Given the description of an element on the screen output the (x, y) to click on. 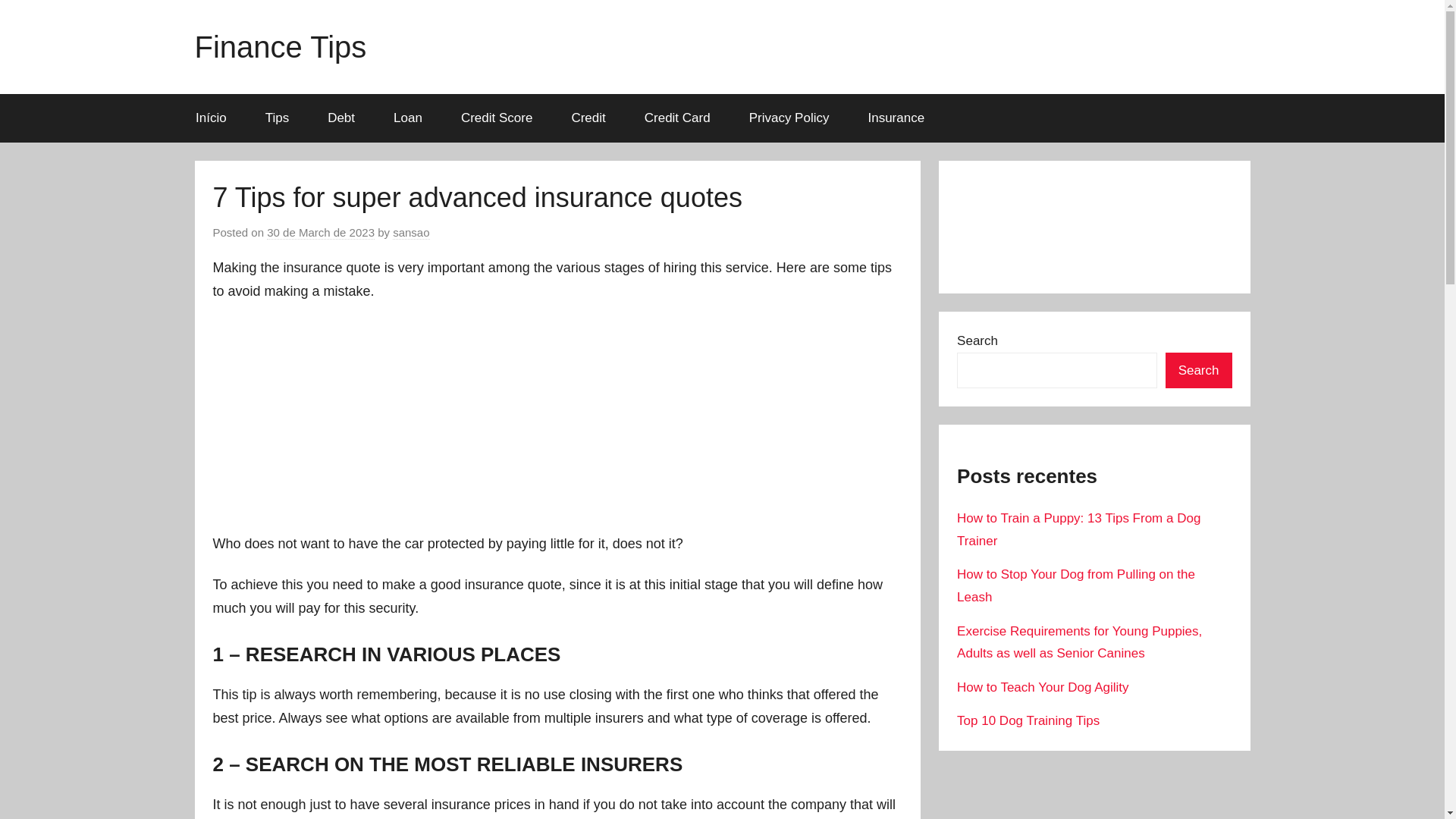
sansao (411, 232)
Credit Card (676, 118)
Credit (587, 118)
Top 10 Dog Training Tips (1027, 720)
View all posts by sansao (411, 232)
How to Teach Your Dog Agility (1042, 687)
How to Train a Puppy: 13 Tips From a Dog Trainer (1077, 529)
Loan (408, 118)
Debt (341, 118)
